Given the description of an element on the screen output the (x, y) to click on. 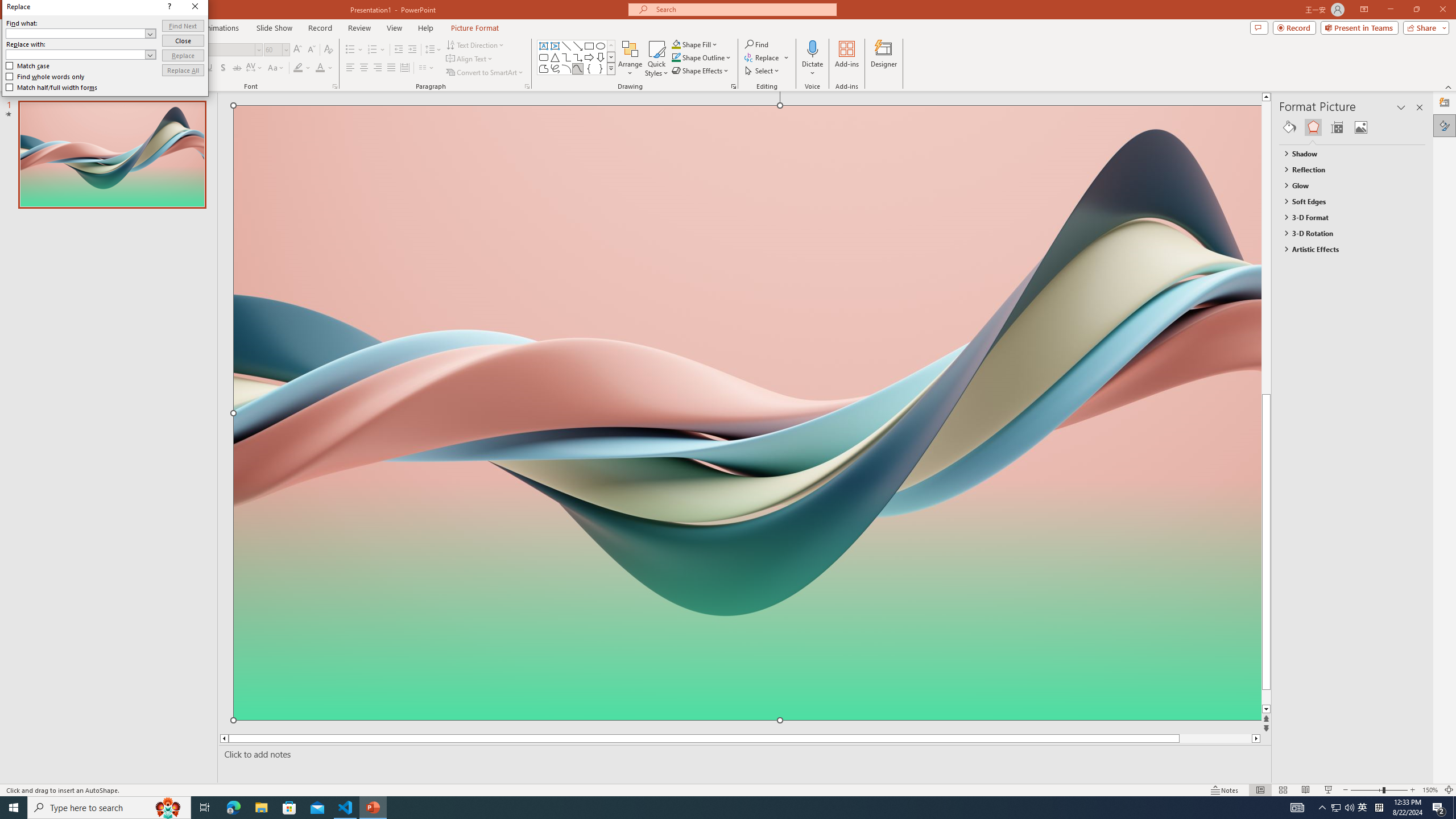
Picture Format (475, 28)
Picture (1361, 126)
Match half/full width forms (52, 86)
